Given the description of an element on the screen output the (x, y) to click on. 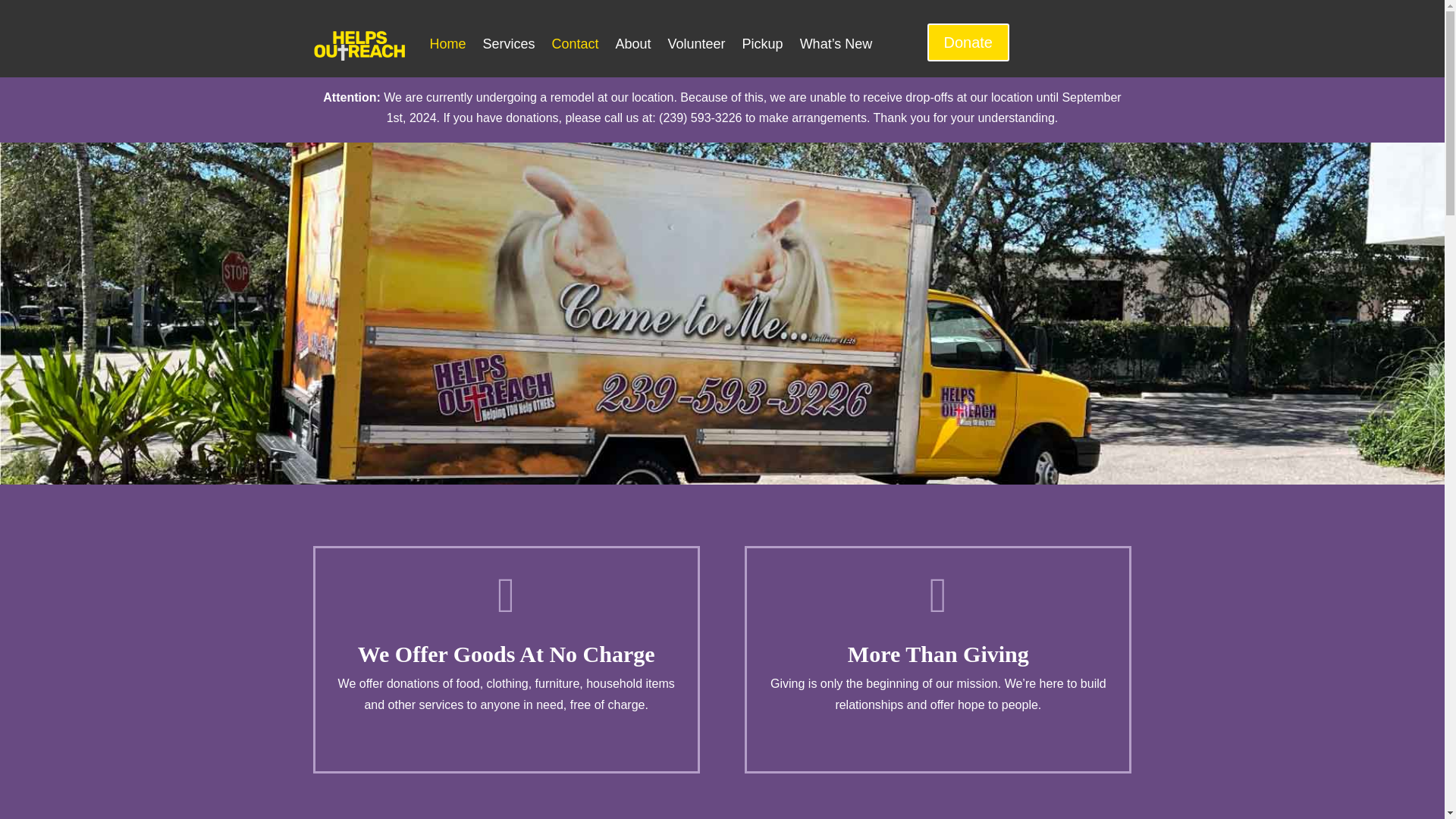
Services (507, 43)
Contact (574, 43)
Home (447, 43)
About (632, 43)
Volunteer (696, 43)
Donate (967, 42)
Pickup (762, 43)
